Given the description of an element on the screen output the (x, y) to click on. 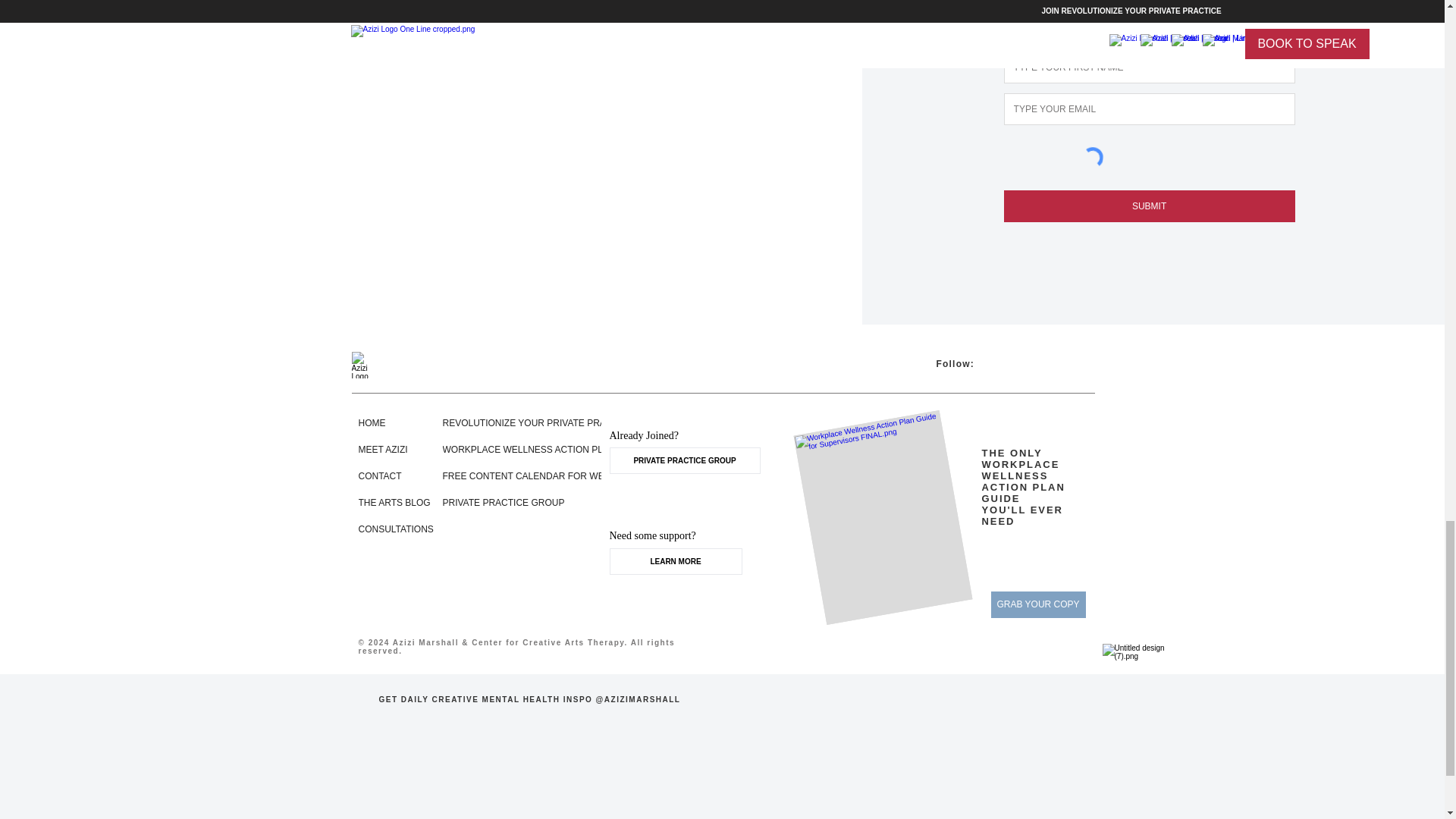
CONTACT (385, 476)
REVOLUTIONIZE YOUR PRIVATE PRACTICE (537, 422)
WORKPLACE WELLNESS ACTION PLAN GUIDE (544, 449)
MEET AZIZI (385, 449)
CONSULTATIONS (395, 529)
SUBMIT (1149, 205)
HOME (385, 422)
THE ARTS BLOG (393, 502)
FREE CONTENT CALENDAR FOR WELLPRENEURS (553, 476)
